Given the description of an element on the screen output the (x, y) to click on. 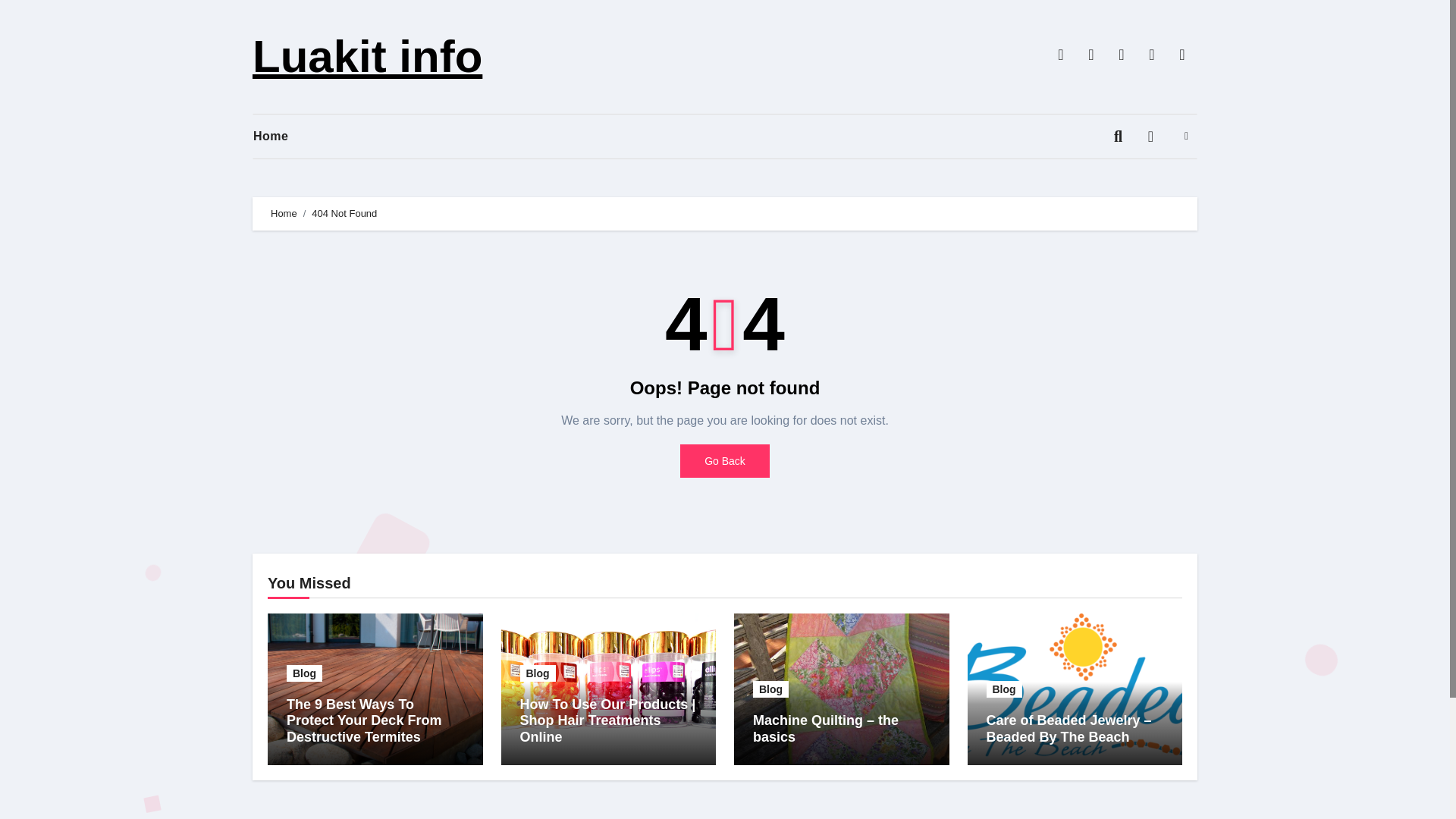
Blog (303, 673)
Home (283, 213)
Home (282, 136)
Luakit info (366, 56)
Blog (537, 673)
Blog (770, 688)
Go Back (724, 460)
Blog (1003, 688)
Home (282, 136)
